Given the description of an element on the screen output the (x, y) to click on. 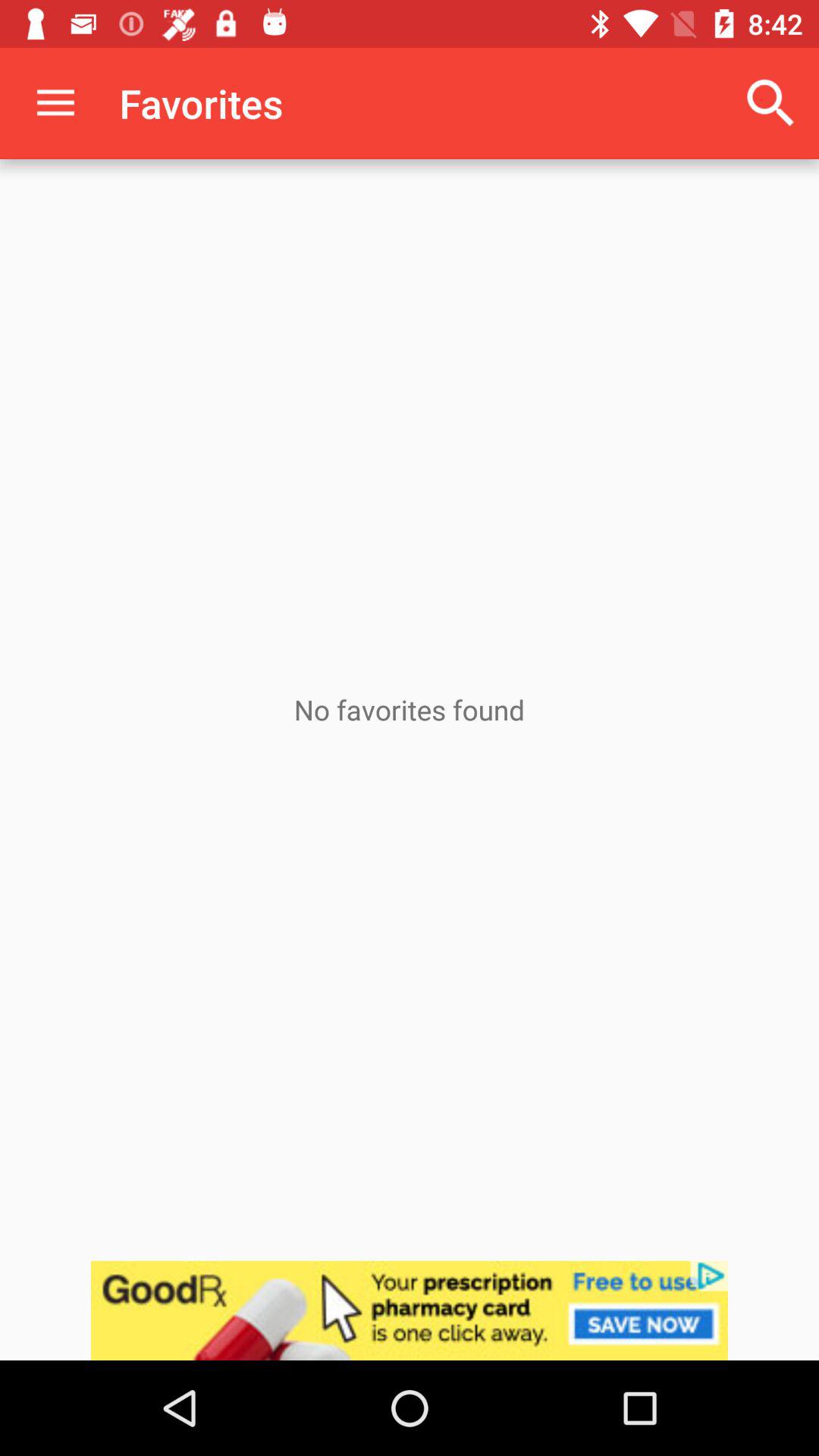
go to another site (409, 1310)
